Given the description of an element on the screen output the (x, y) to click on. 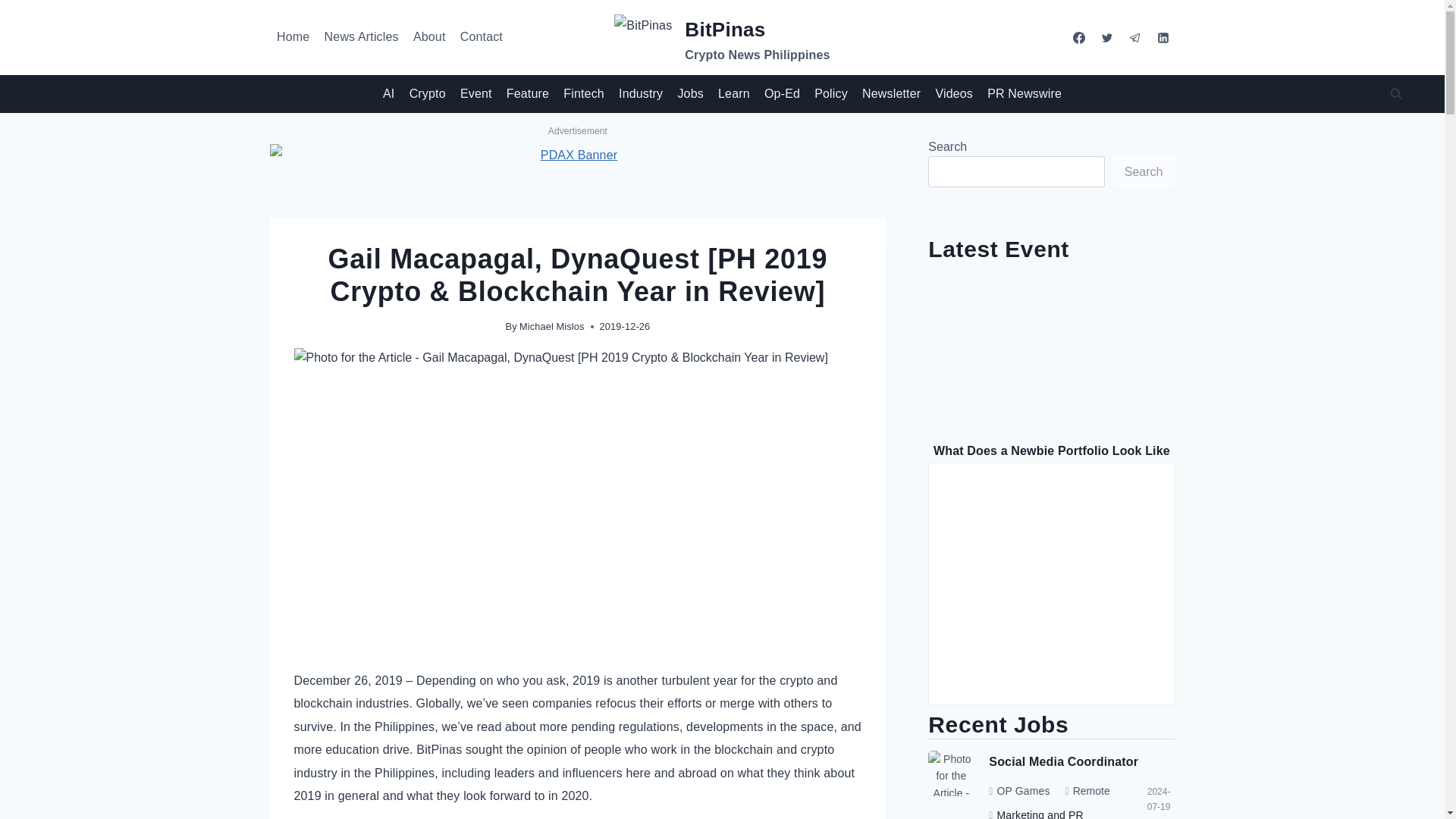
Contact (480, 37)
Policy (832, 94)
Crypto (426, 94)
Learn (733, 94)
Feature (527, 94)
Michael Mislos (552, 326)
Newsletter (890, 94)
Social Media Coordinator 9 (951, 773)
News Articles (361, 37)
Fintech (583, 94)
